Given the description of an element on the screen output the (x, y) to click on. 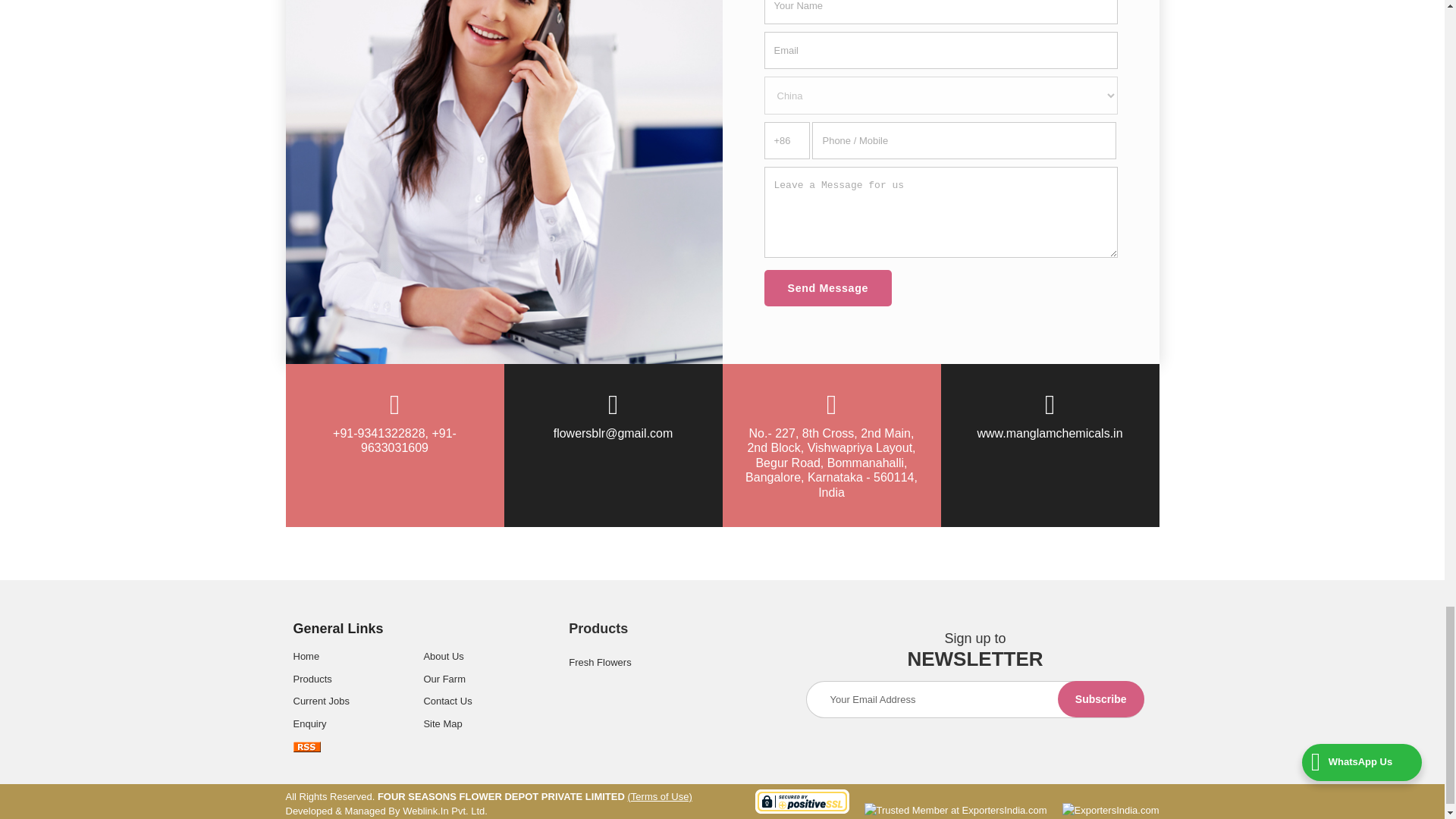
Subscribe (1101, 698)
Send Message (828, 288)
Send Message (828, 288)
